Given the description of an element on the screen output the (x, y) to click on. 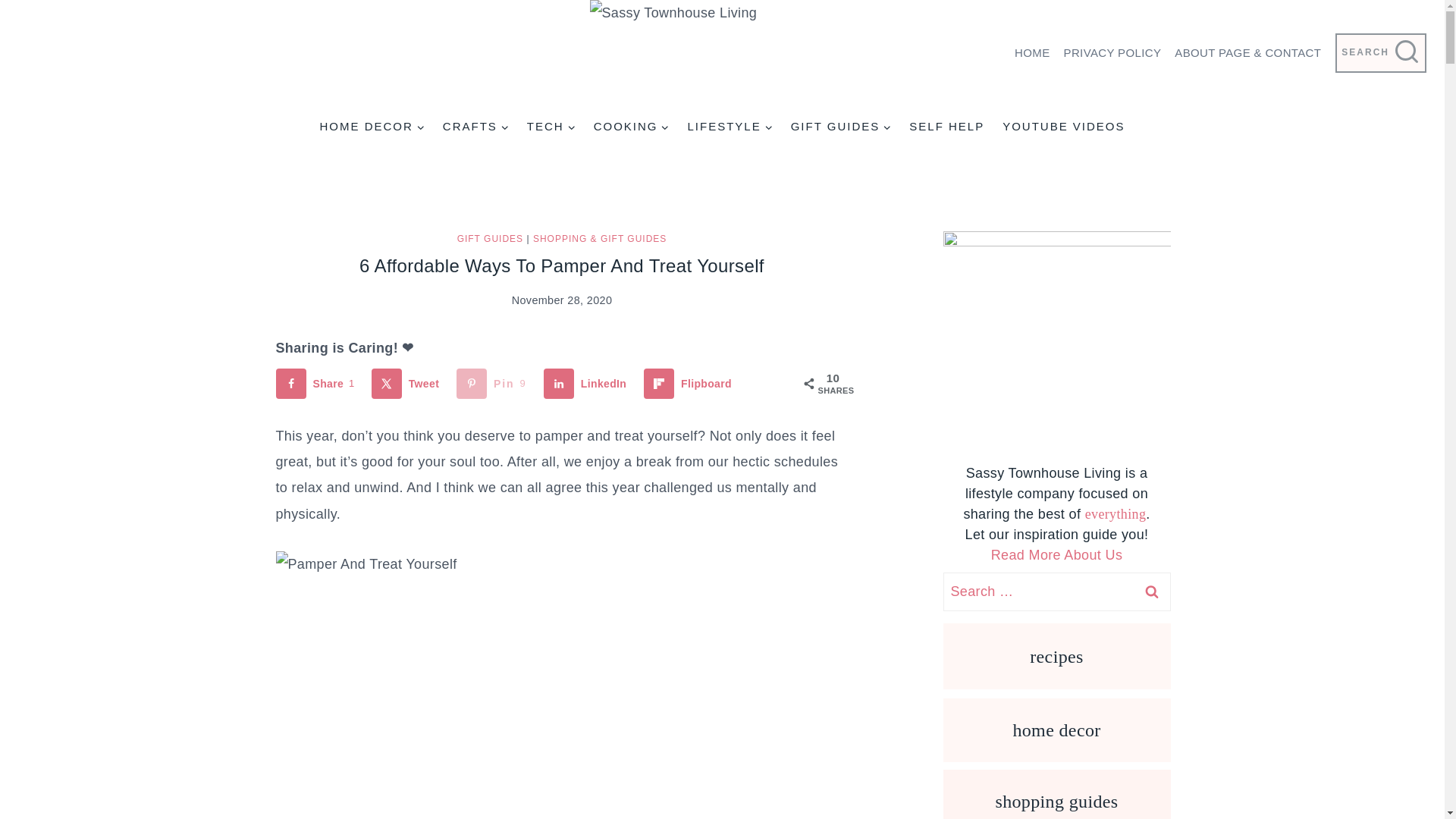
SELF HELP (945, 126)
TECH (551, 126)
HOME (1032, 53)
COOKING (631, 126)
Save to Pinterest (494, 383)
Share on X (408, 383)
SEARCH (1380, 52)
YOUTUBE VIDEOS (1063, 126)
Share on LinkedIn (588, 383)
Share on Facebook (318, 383)
CRAFTS (475, 126)
HOME DECOR (371, 126)
Search (1151, 591)
PRIVACY POLICY (1113, 53)
GIFT GUIDES (841, 126)
